Given the description of an element on the screen output the (x, y) to click on. 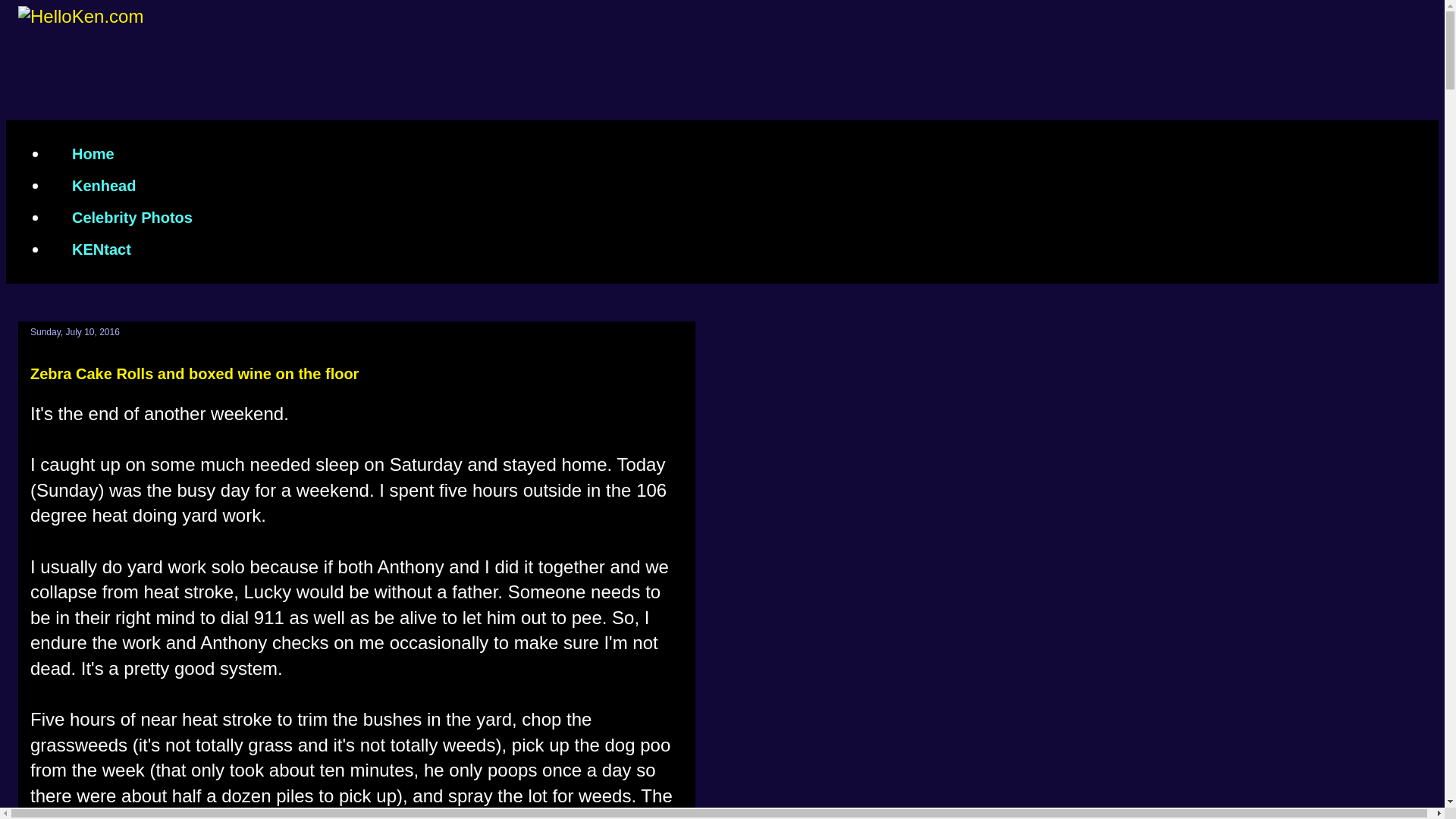
Home (92, 153)
Celebrity Photos (131, 217)
KENtact (101, 249)
Kenhead (103, 185)
